Given the description of an element on the screen output the (x, y) to click on. 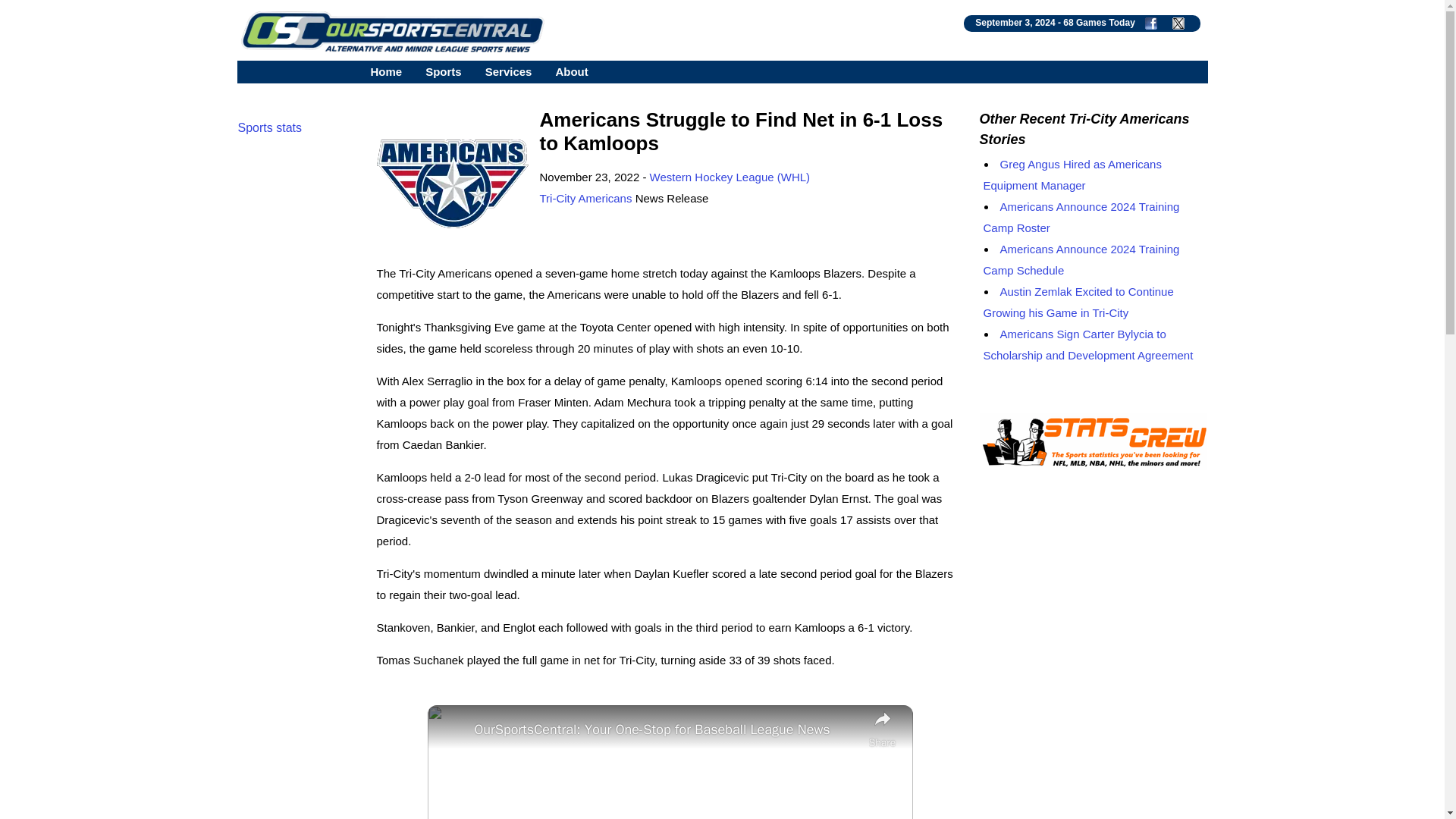
Tri-City Americans (585, 197)
Sports stats (269, 127)
Home (385, 71)
68 Games Today (1098, 22)
